Given the description of an element on the screen output the (x, y) to click on. 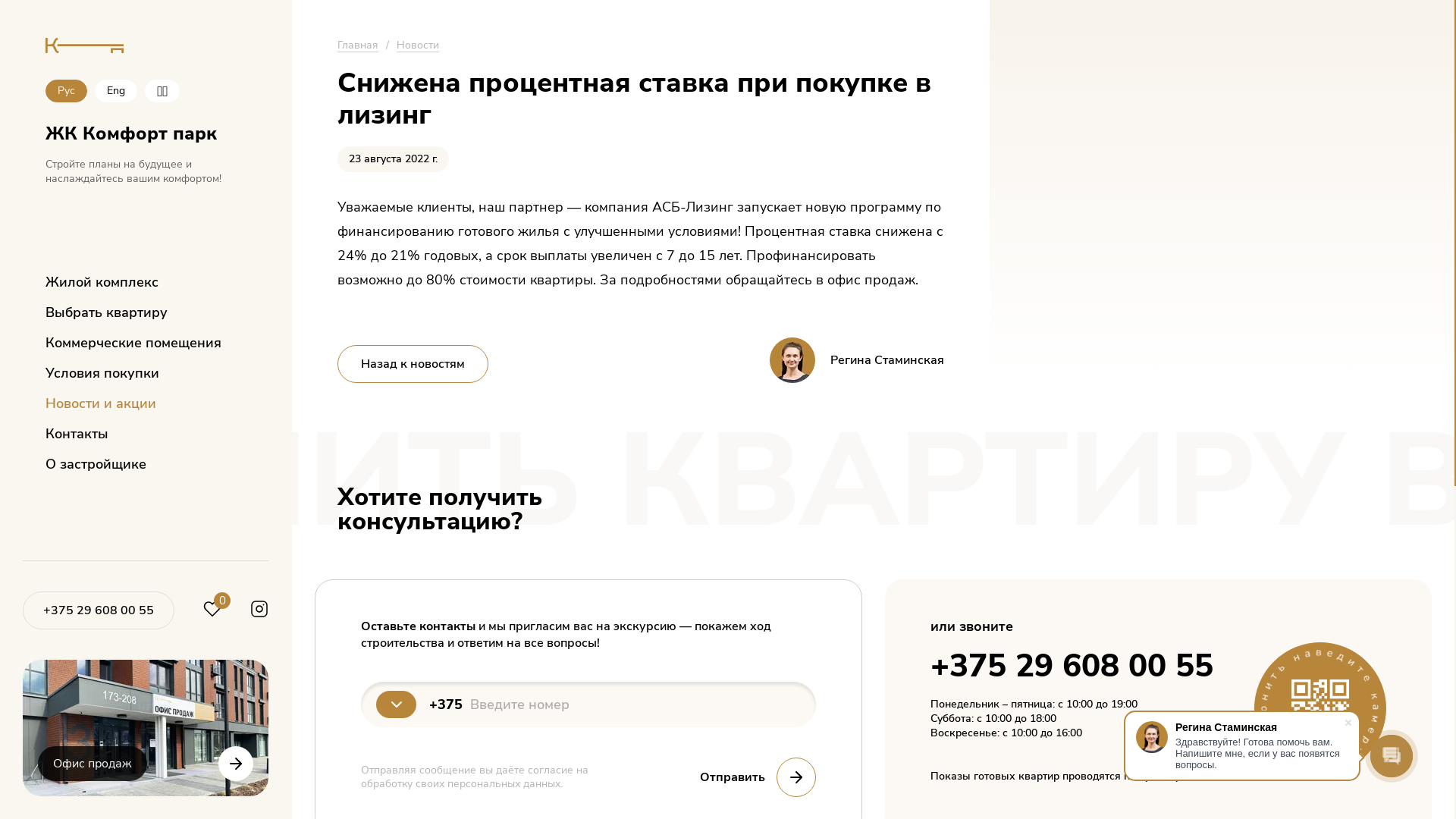
+375 29 608 00 55 Element type: text (98, 610)
Eng Element type: text (115, 90)
+375 29 608 00 55 Element type: text (98, 610)
+375 29 608 00 55 Element type: text (1070, 665)
